Given the description of an element on the screen output the (x, y) to click on. 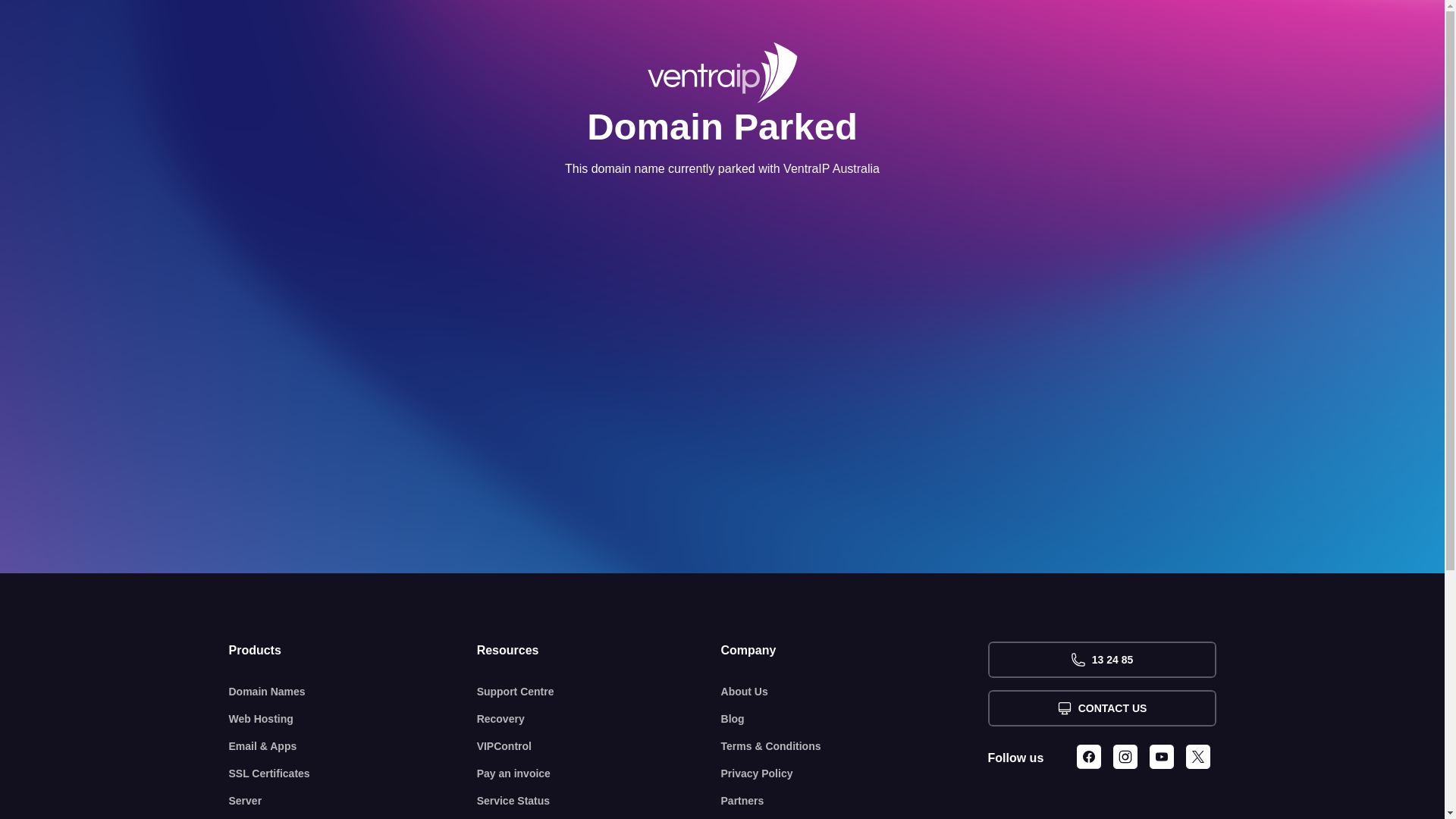
VIPControl Element type: text (598, 745)
Support Centre Element type: text (598, 691)
13 24 85 Element type: text (1101, 659)
Privacy Policy Element type: text (854, 773)
Server Element type: text (352, 800)
Domain Names Element type: text (352, 691)
Terms & Conditions Element type: text (854, 745)
Web Hosting Element type: text (352, 718)
Recovery Element type: text (598, 718)
Email & Apps Element type: text (352, 745)
SSL Certificates Element type: text (352, 773)
About Us Element type: text (854, 691)
Service Status Element type: text (598, 800)
Blog Element type: text (854, 718)
Pay an invoice Element type: text (598, 773)
CONTACT US Element type: text (1101, 708)
Partners Element type: text (854, 800)
